Given the description of an element on the screen output the (x, y) to click on. 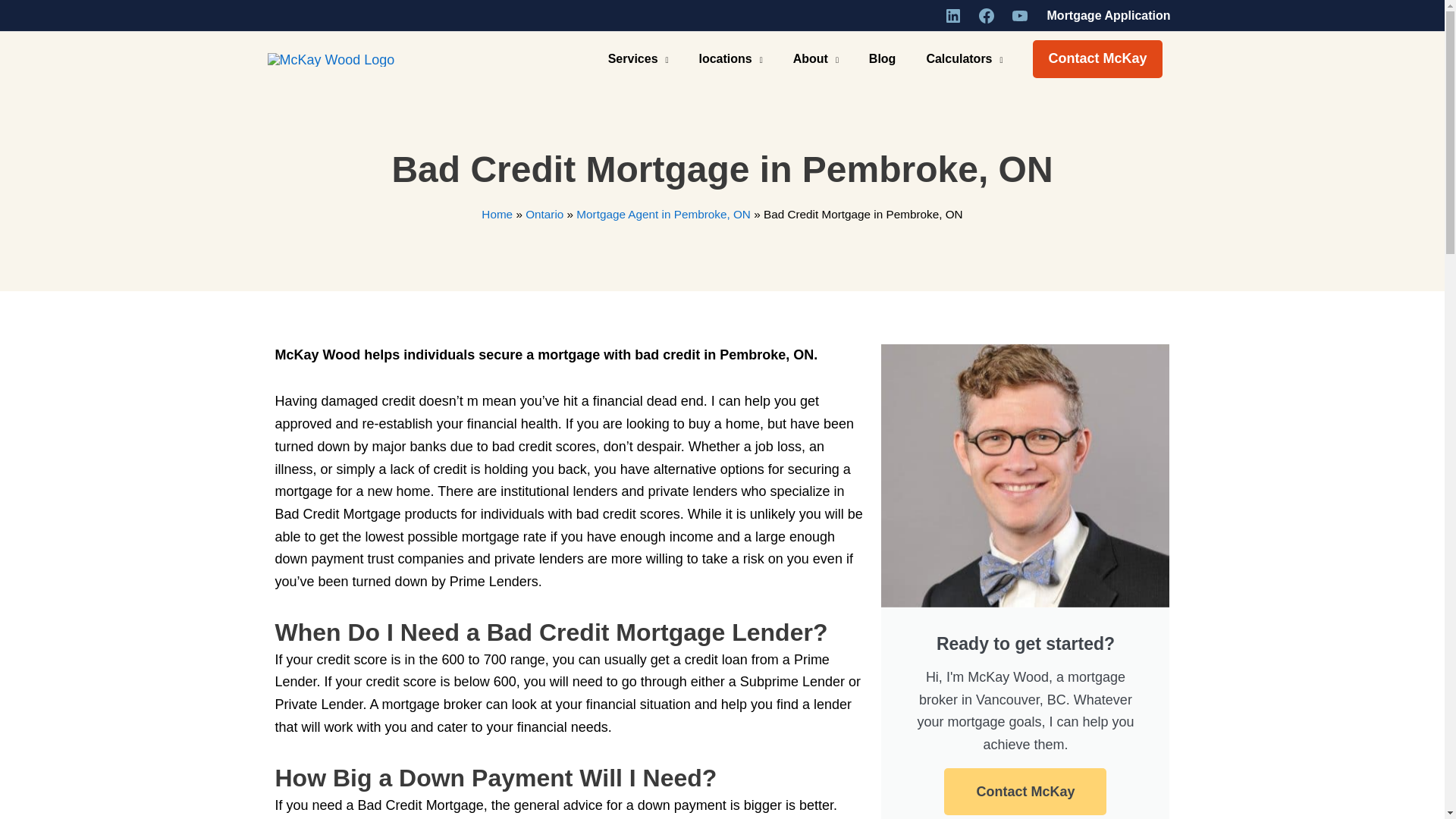
Mortgage Application (1108, 15)
Facebook (986, 15)
locations (729, 58)
Services (638, 58)
LinkedIn (952, 15)
YouTube (1019, 15)
